Given the description of an element on the screen output the (x, y) to click on. 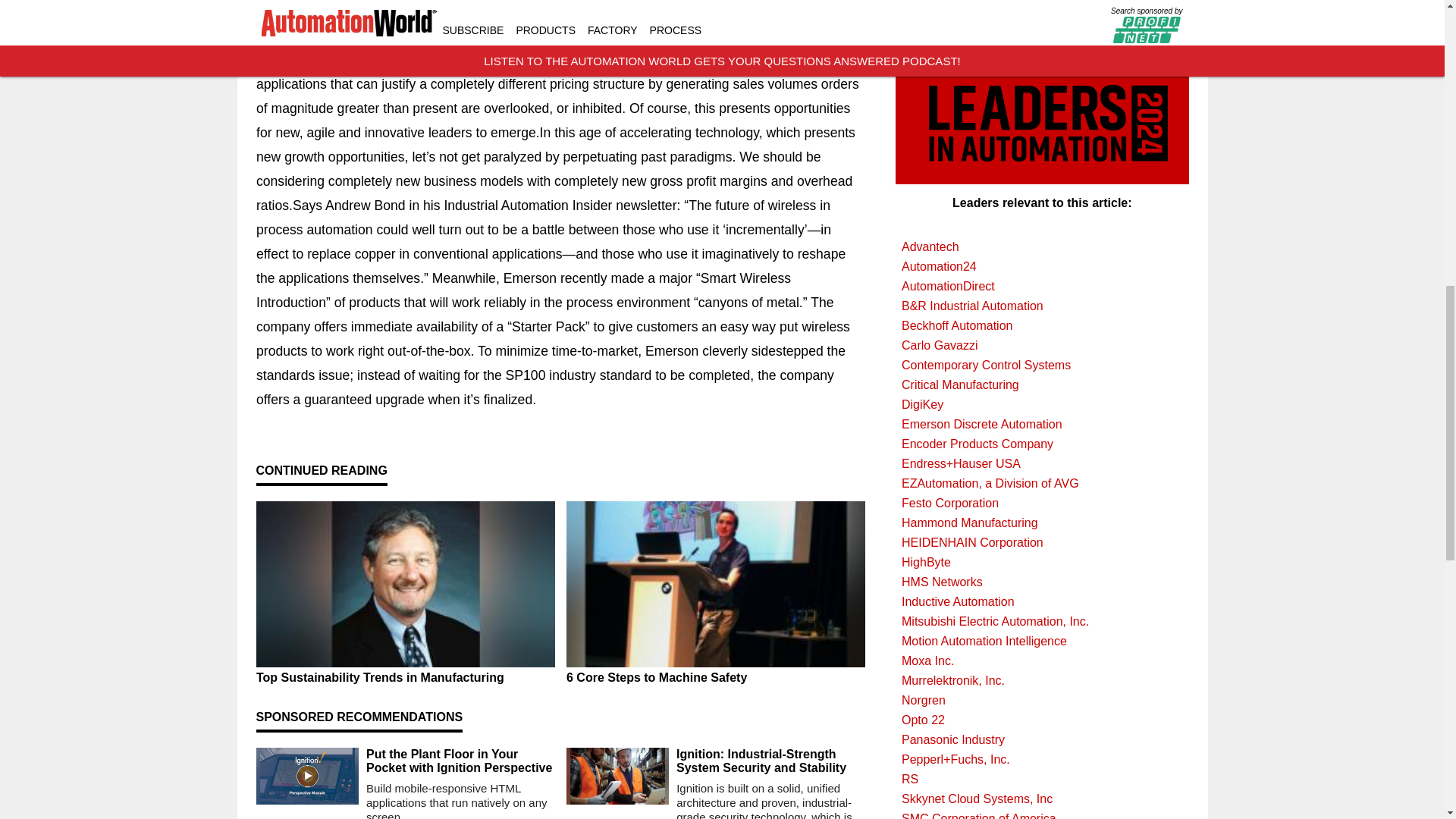
Carlo Gavazzi (1042, 345)
Beckhoff Automation (1042, 325)
6 Core Steps to Machine Safety (715, 677)
AutomationDirect (1042, 286)
Automation24 (1042, 266)
Emerson Discrete Automation (1042, 424)
DigiKey (1042, 404)
Put the Plant Floor in Your Pocket with Ignition Perspective (459, 760)
Top Sustainability Trends in Manufacturing (405, 677)
Ignition: Industrial-Strength System Security and Stability (770, 760)
Advantech (1042, 247)
Encoder Products Company (1042, 444)
Contemporary Control Systems (1042, 365)
Critical Manufacturing (1042, 384)
